Given the description of an element on the screen output the (x, y) to click on. 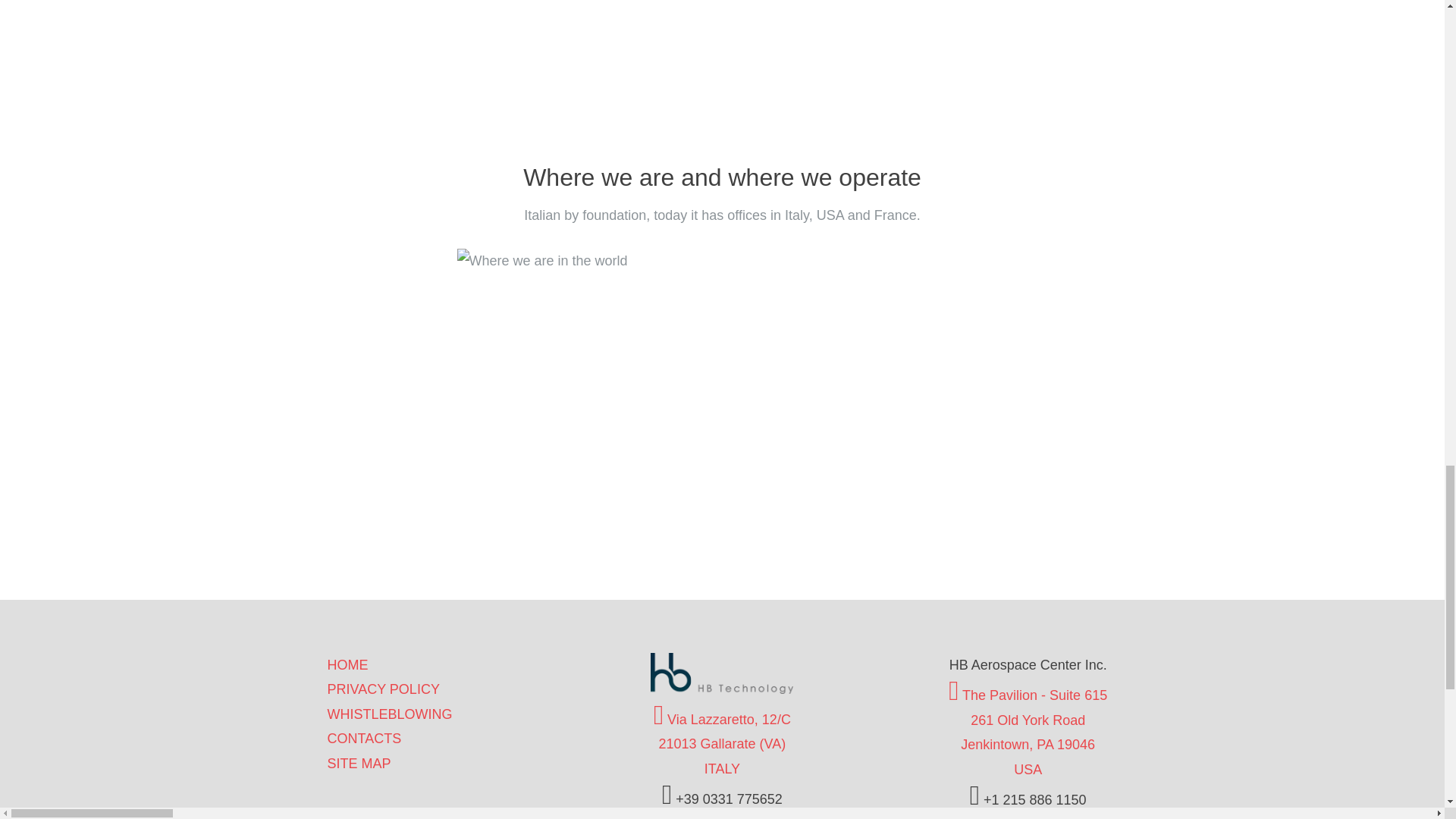
HB Technology (721, 688)
